Given the description of an element on the screen output the (x, y) to click on. 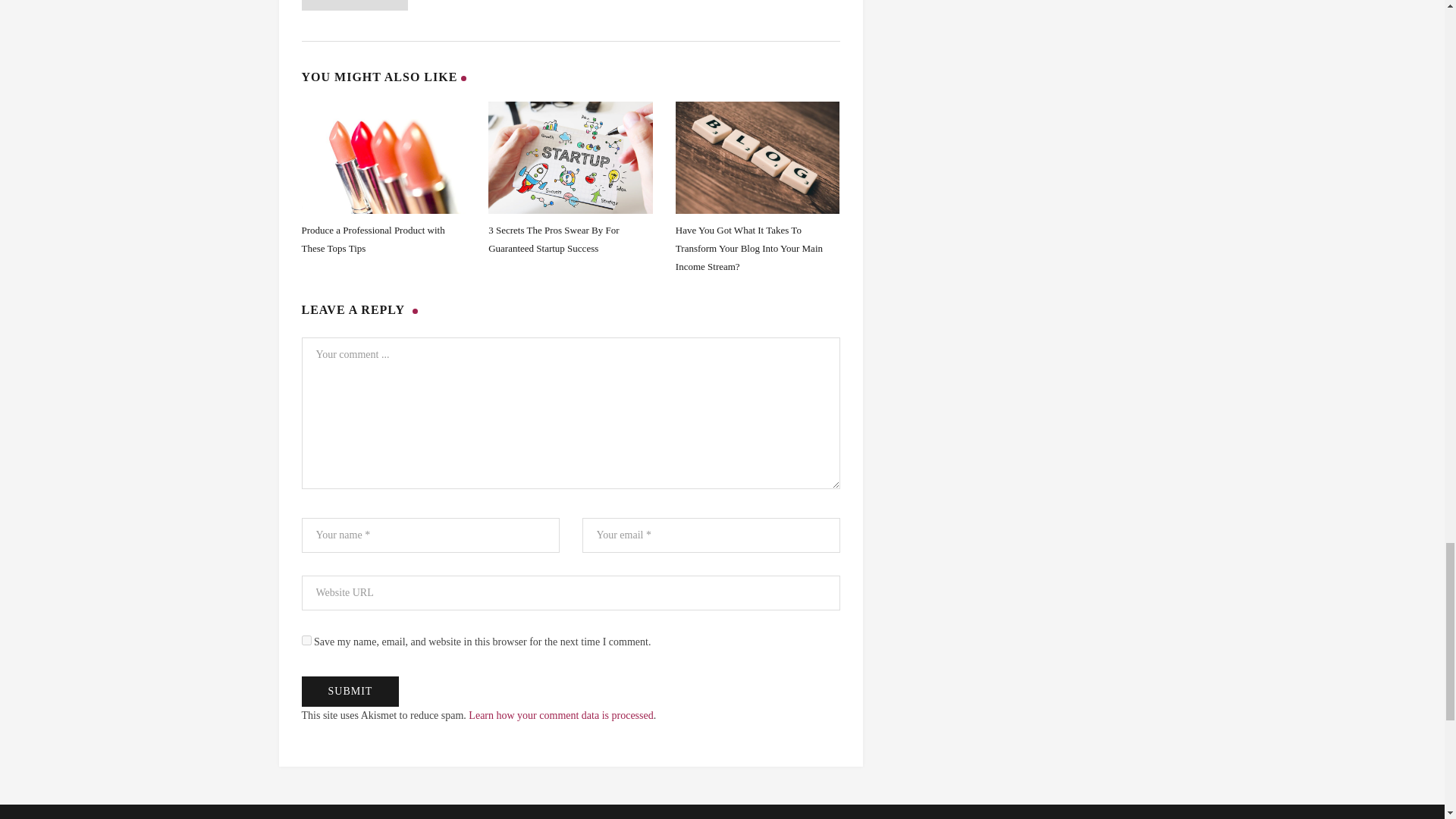
yes (306, 640)
Submit (349, 691)
Produce a Professional Product with These Tops Tips (373, 238)
